Given the description of an element on the screen output the (x, y) to click on. 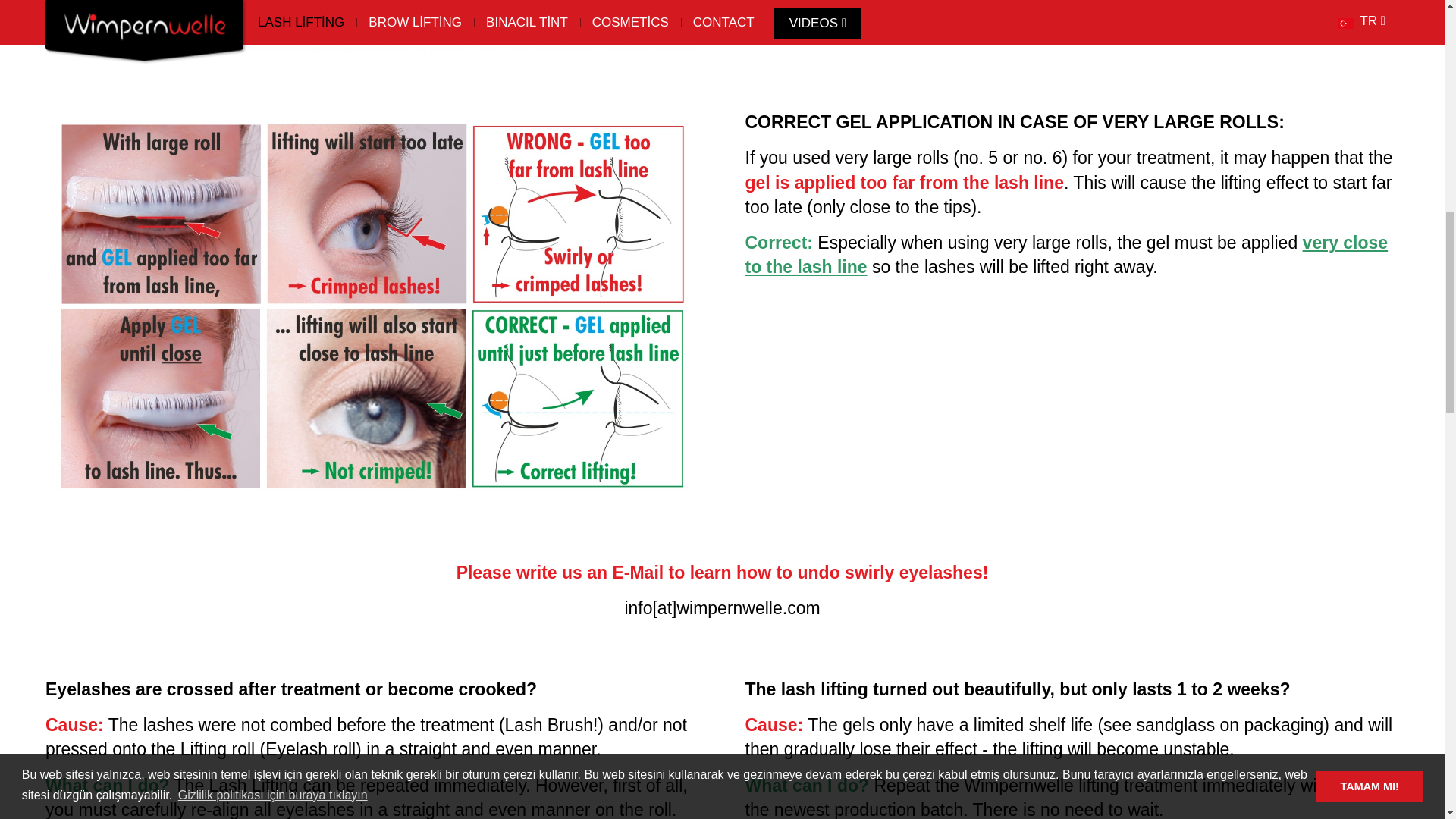
Lash Lifting Correct application of eyelash rolls (372, 26)
